Given the description of an element on the screen output the (x, y) to click on. 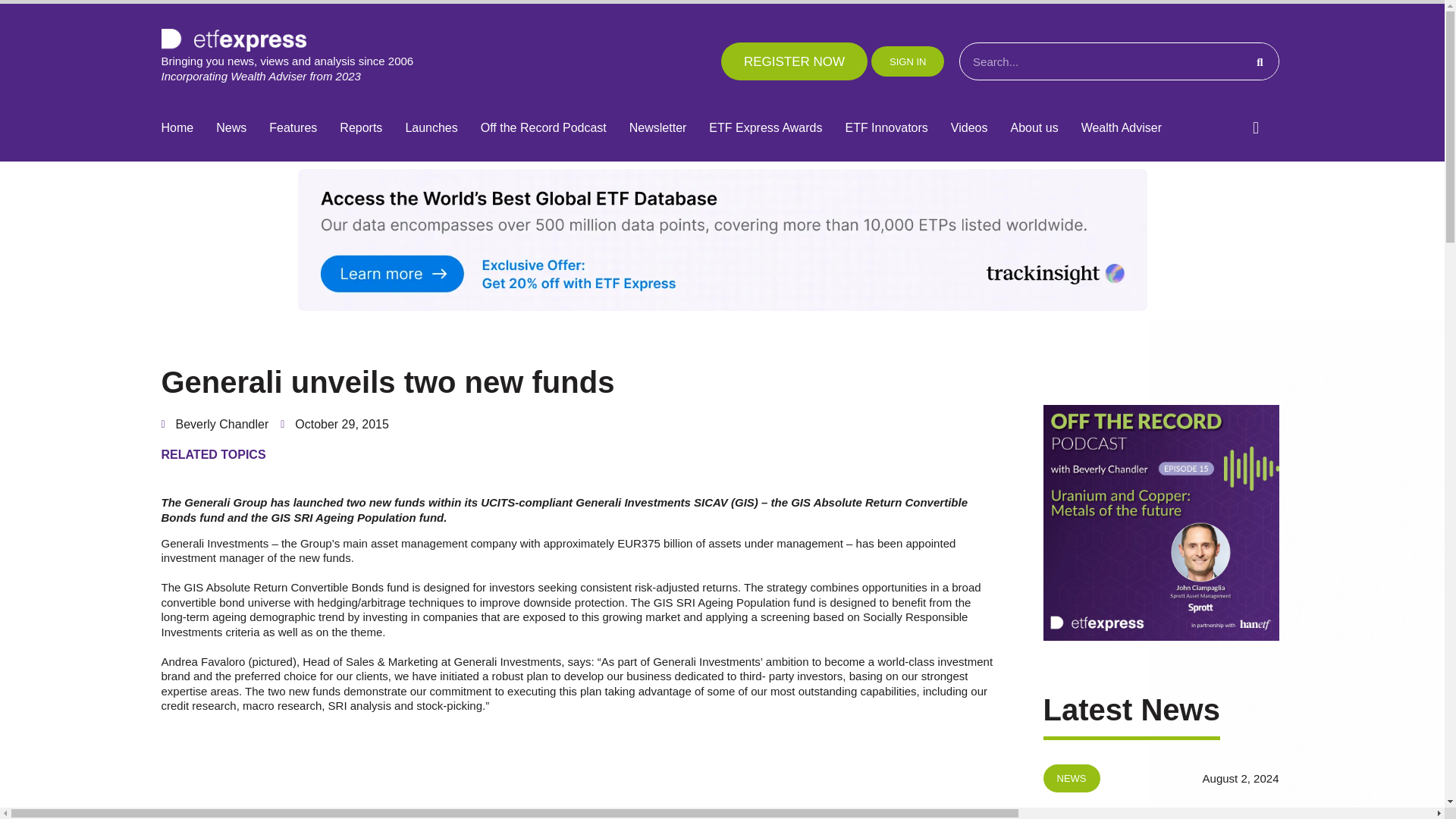
SIGN IN (906, 60)
REGISTER NOW (793, 61)
